Given the description of an element on the screen output the (x, y) to click on. 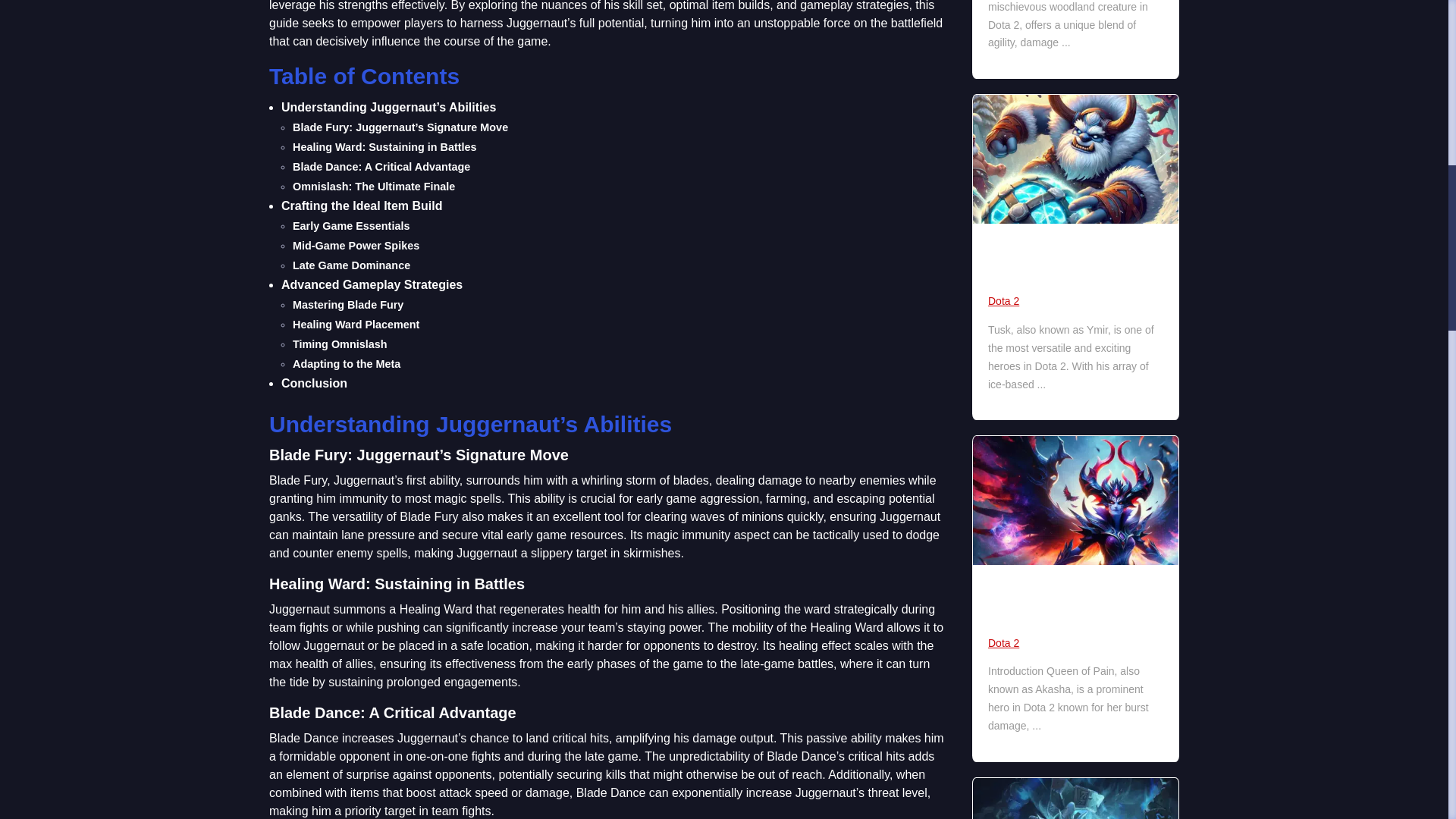
Healing Ward: Sustaining in Battles (384, 146)
Advanced Gameplay Strategies (372, 284)
Healing Ward Placement (355, 324)
Omnislash: The Ultimate Finale (373, 186)
Blade Dance: A Critical Advantage (381, 166)
Conclusion (314, 382)
Timing Omnislash (339, 344)
Late Game Dominance (351, 265)
Early Game Essentials (350, 225)
Mastering Blade Fury (347, 304)
Crafting the Ideal Item Build (361, 205)
Adapting to the Meta (346, 363)
Mid-Game Power Spikes (355, 245)
